Given the description of an element on the screen output the (x, y) to click on. 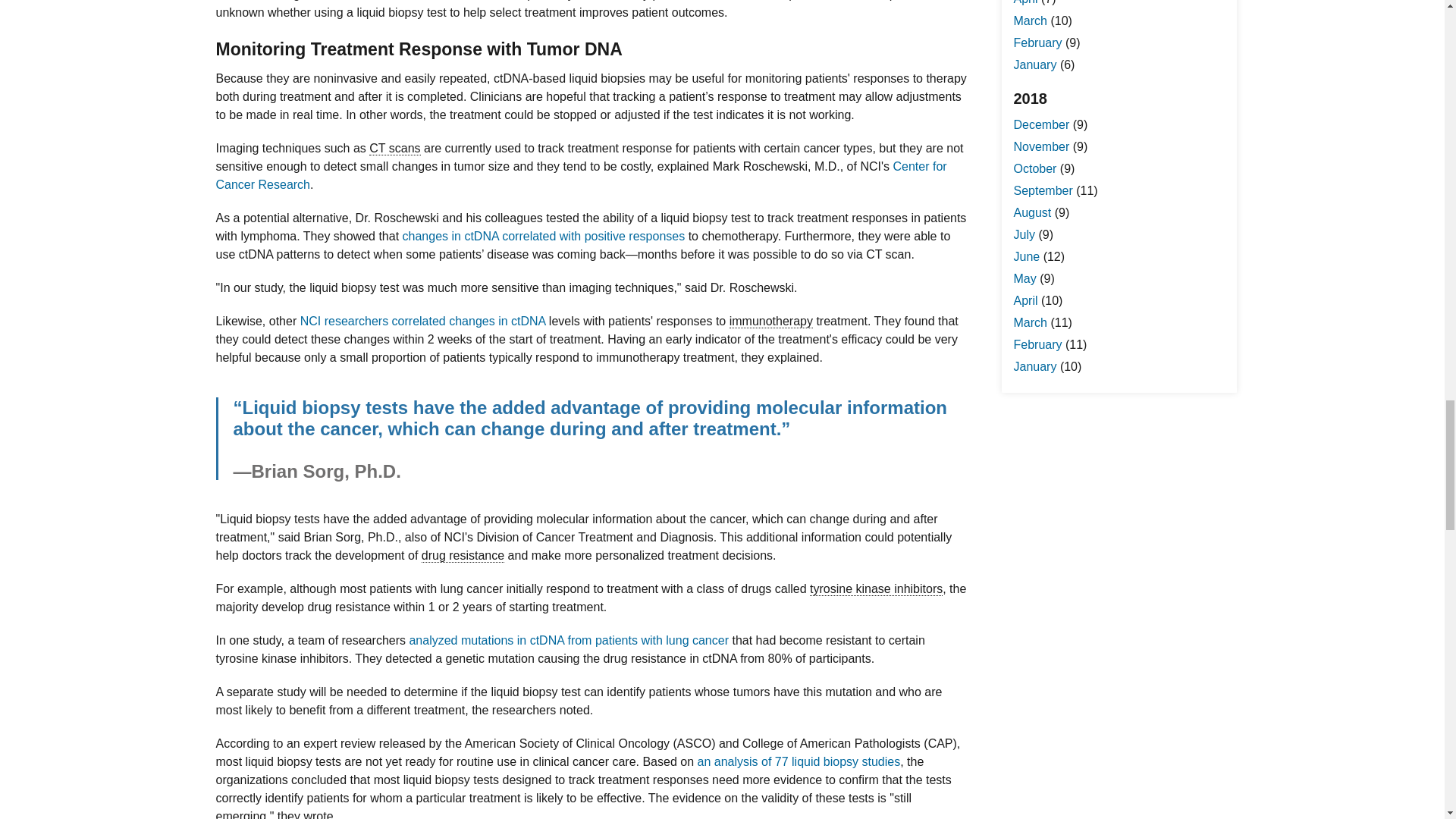
CT scans (394, 148)
Center for Cancer Research (580, 174)
